Given the description of an element on the screen output the (x, y) to click on. 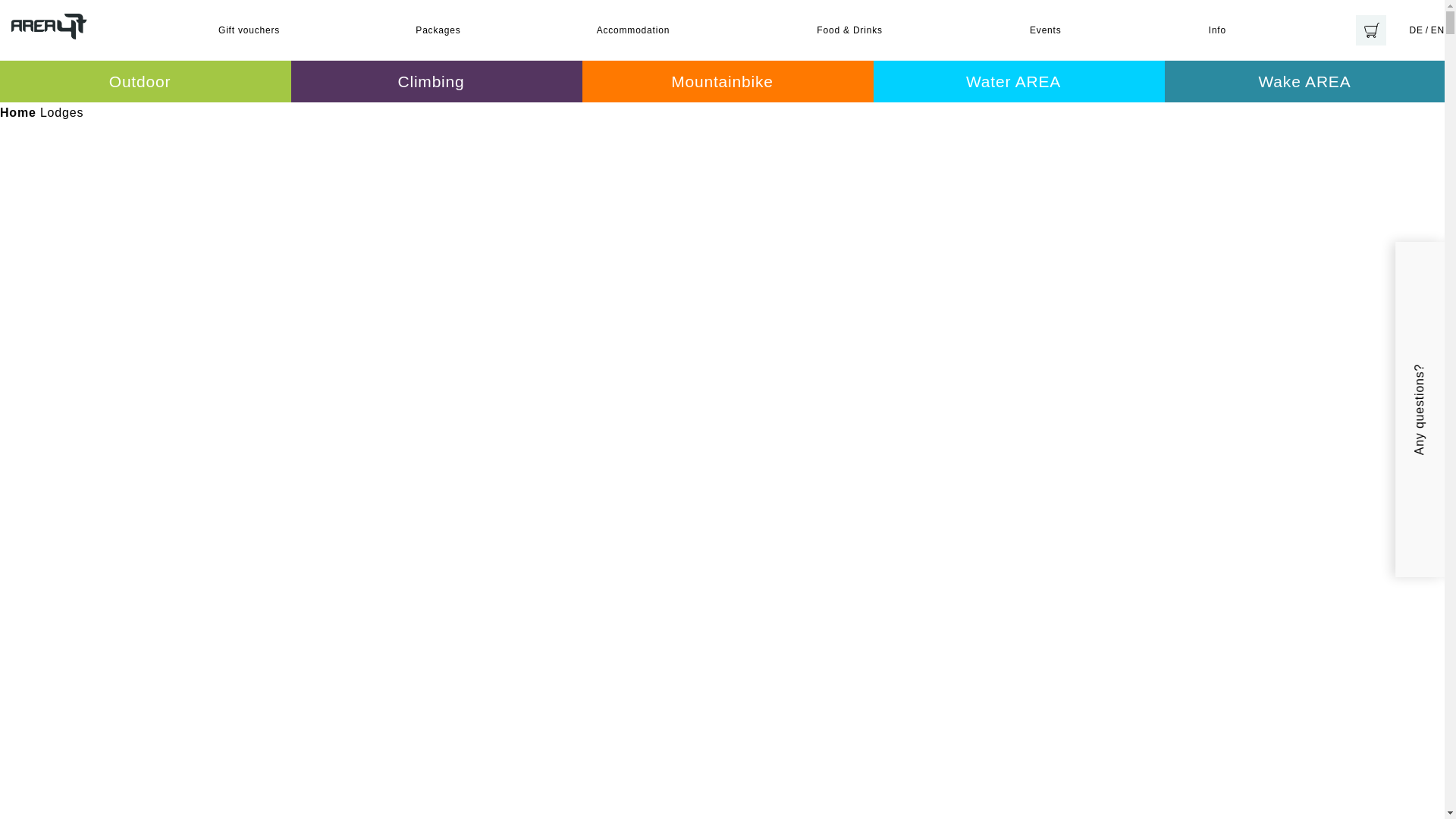
Mountainbike (727, 81)
Climbing (436, 81)
Outdoor (145, 81)
Outdoor (145, 81)
